Given the description of an element on the screen output the (x, y) to click on. 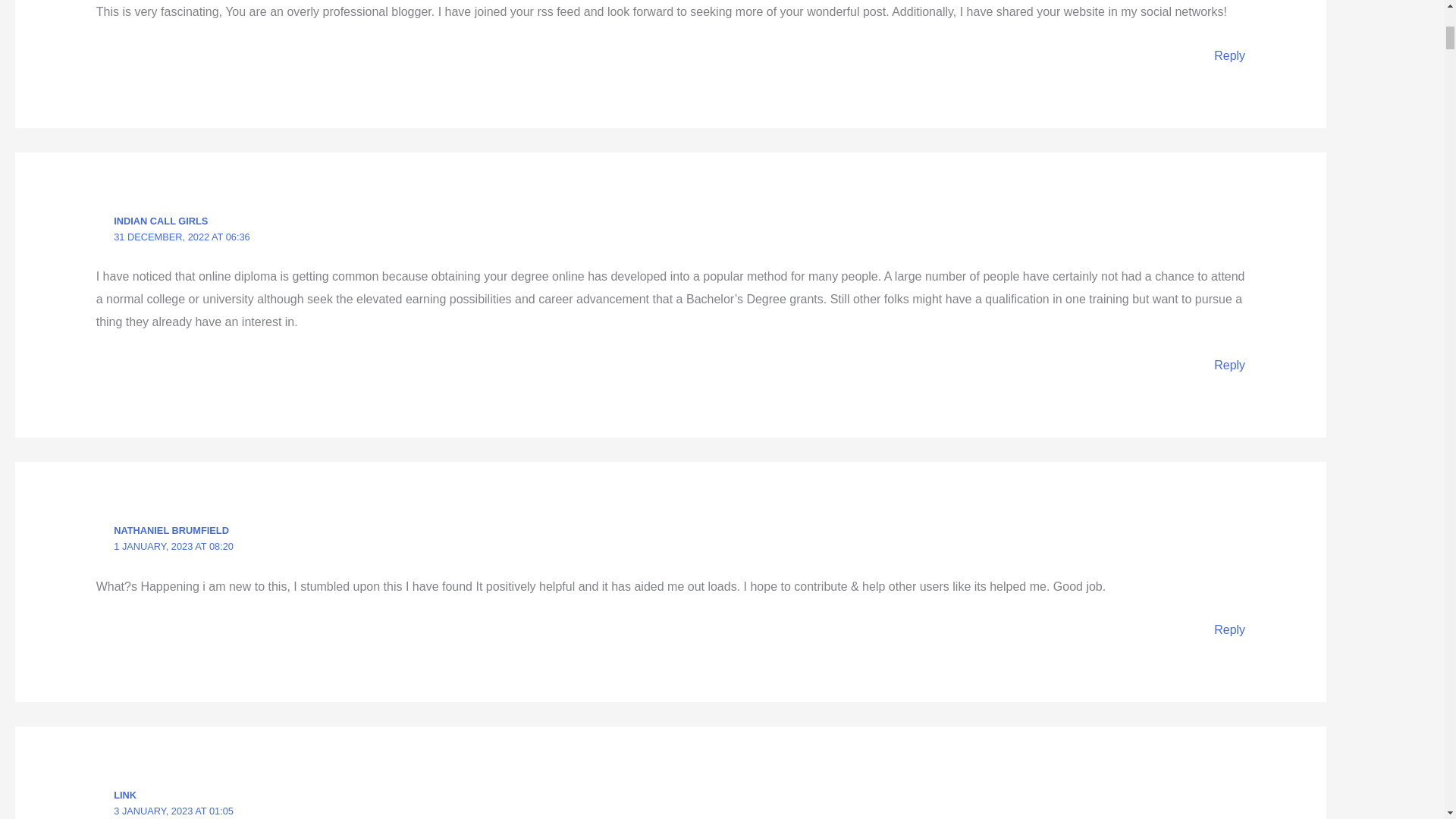
INDIAN CALL GIRLS (160, 220)
1 JANUARY, 2023 AT 08:20 (172, 546)
Reply (1229, 55)
NATHANIEL BRUMFIELD (170, 530)
Reply (1229, 629)
Reply (1229, 364)
LINK (124, 794)
31 DECEMBER, 2022 AT 06:36 (181, 236)
